Given the description of an element on the screen output the (x, y) to click on. 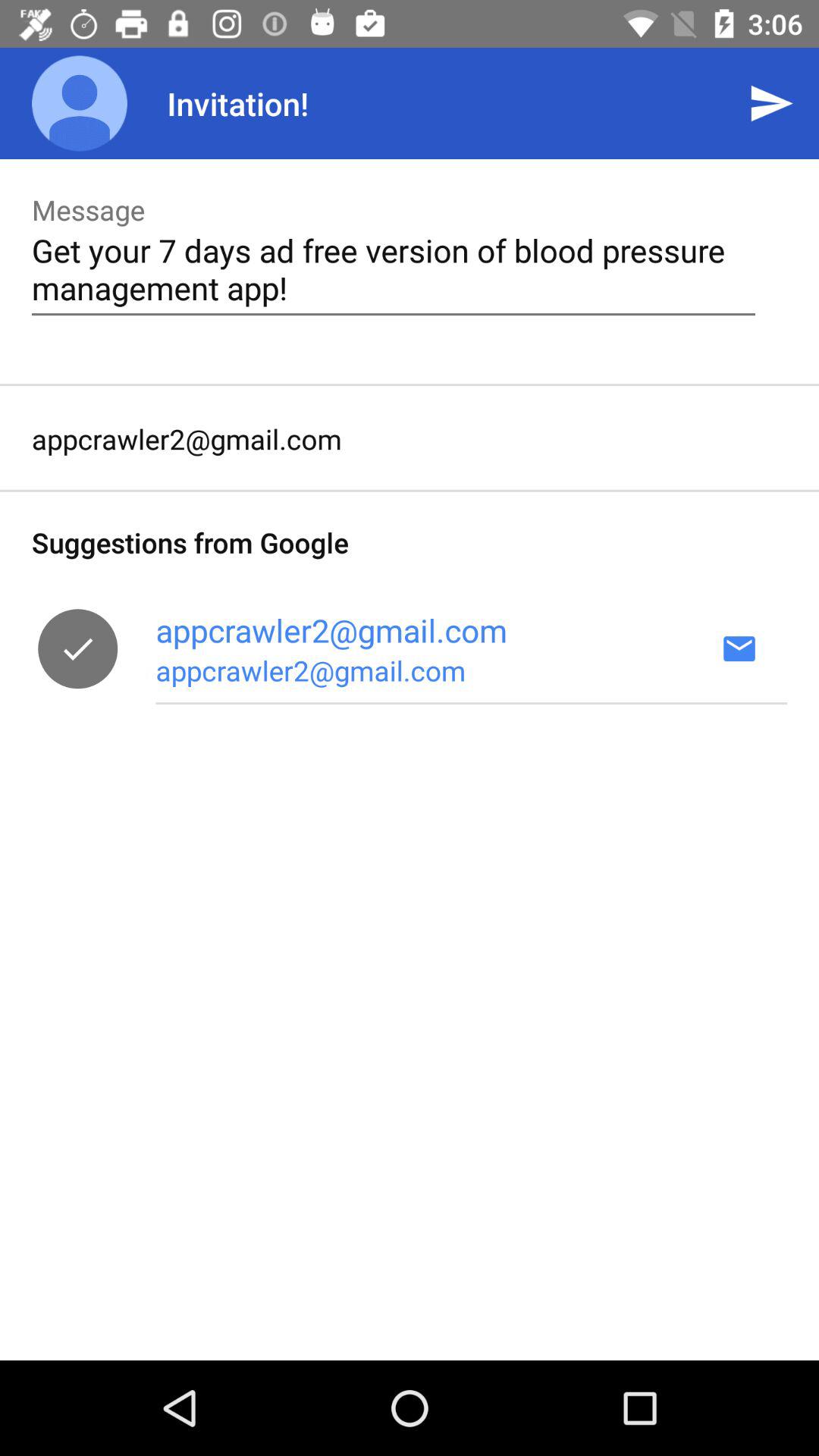
tap the icon at the top right corner (771, 103)
